Given the description of an element on the screen output the (x, y) to click on. 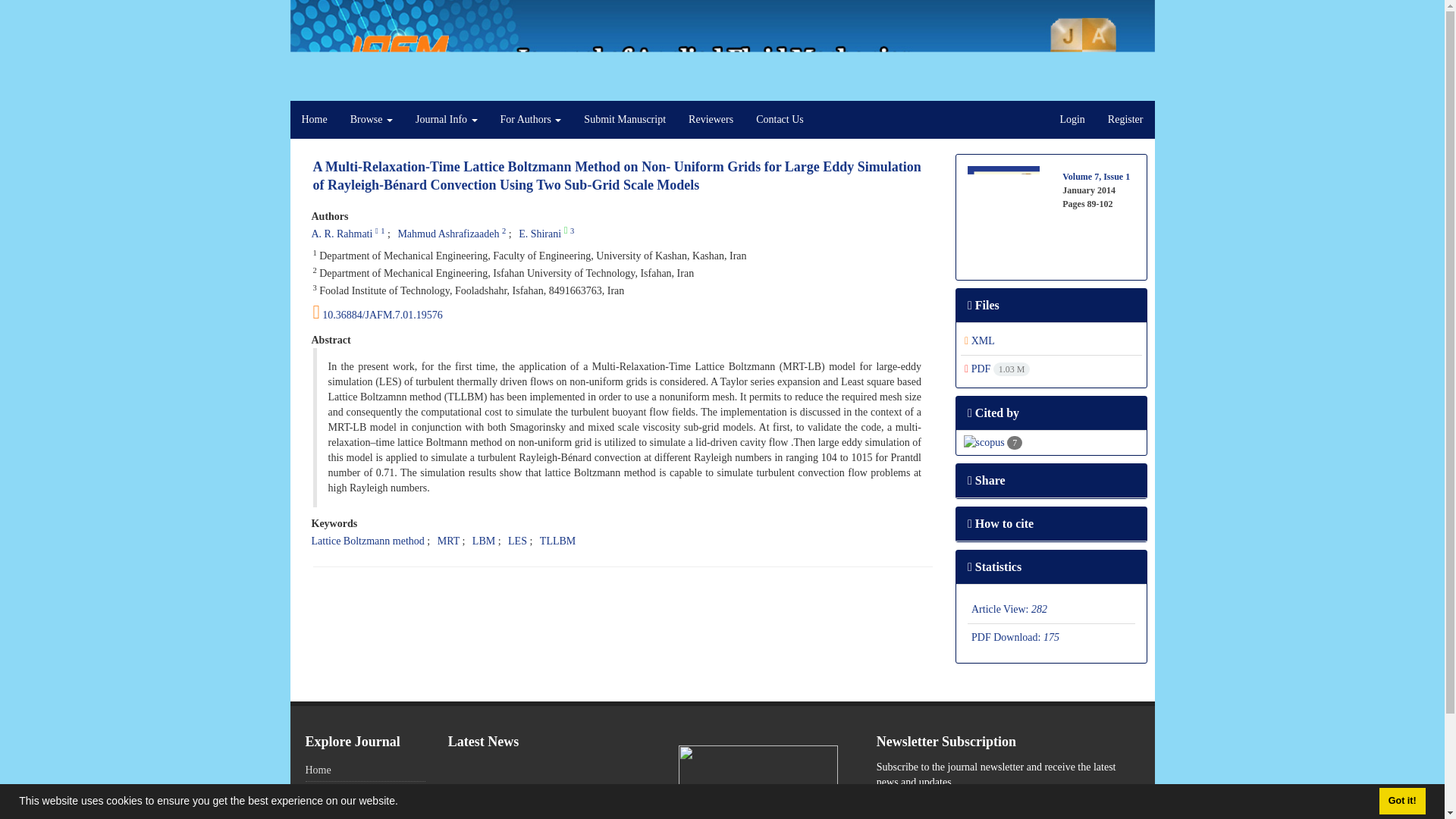
Lattice Boltzmann method (367, 541)
Mahmud Ashrafizaadeh (448, 233)
Journal Info (446, 119)
Home (313, 119)
Cited by Scopus (991, 441)
Browse (371, 119)
Got it! (1401, 800)
Login (1072, 119)
DOI (623, 312)
Reviewers (710, 119)
